Given the description of an element on the screen output the (x, y) to click on. 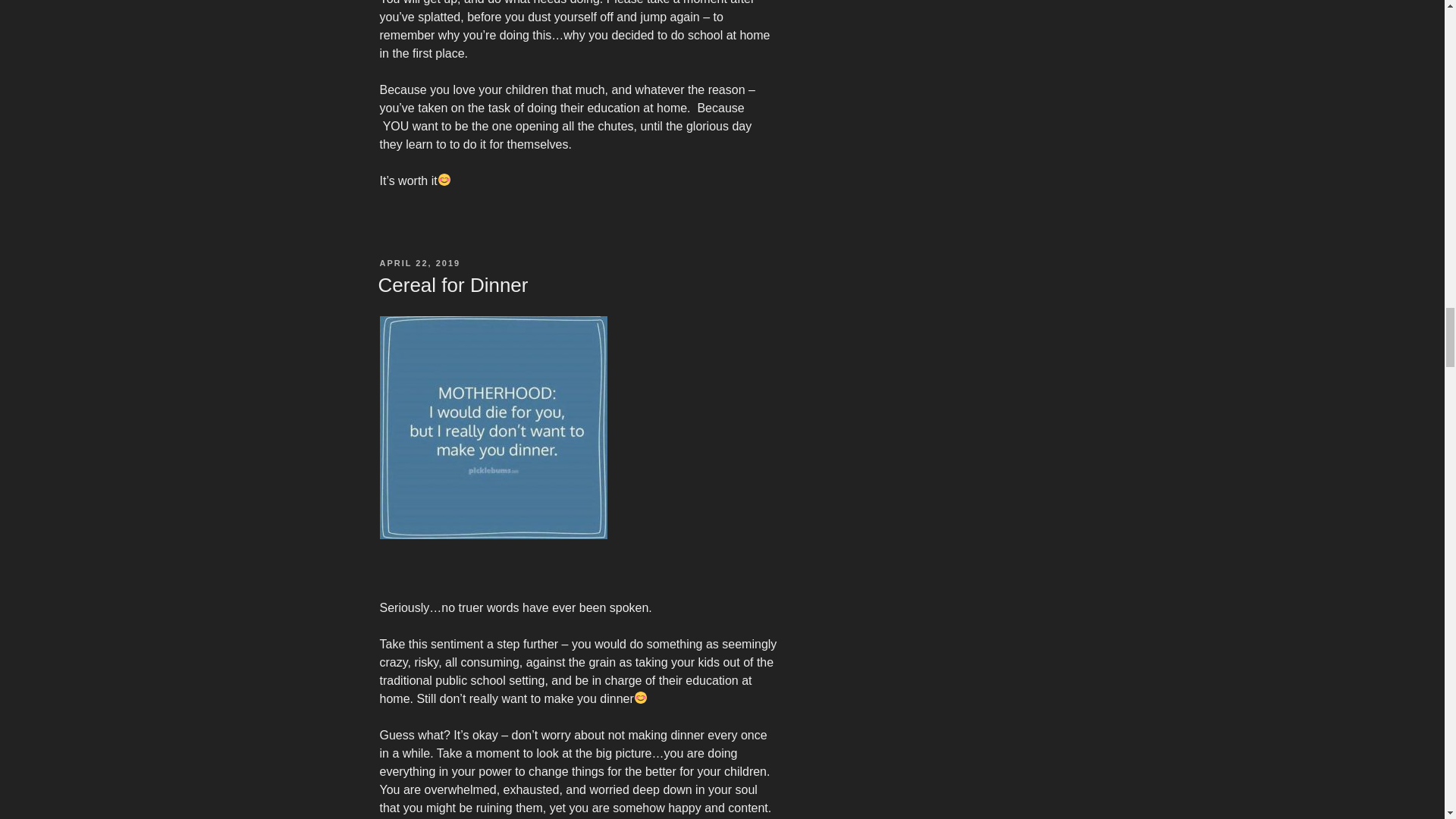
Cereal for Dinner (452, 284)
APRIL 22, 2019 (419, 262)
